Given the description of an element on the screen output the (x, y) to click on. 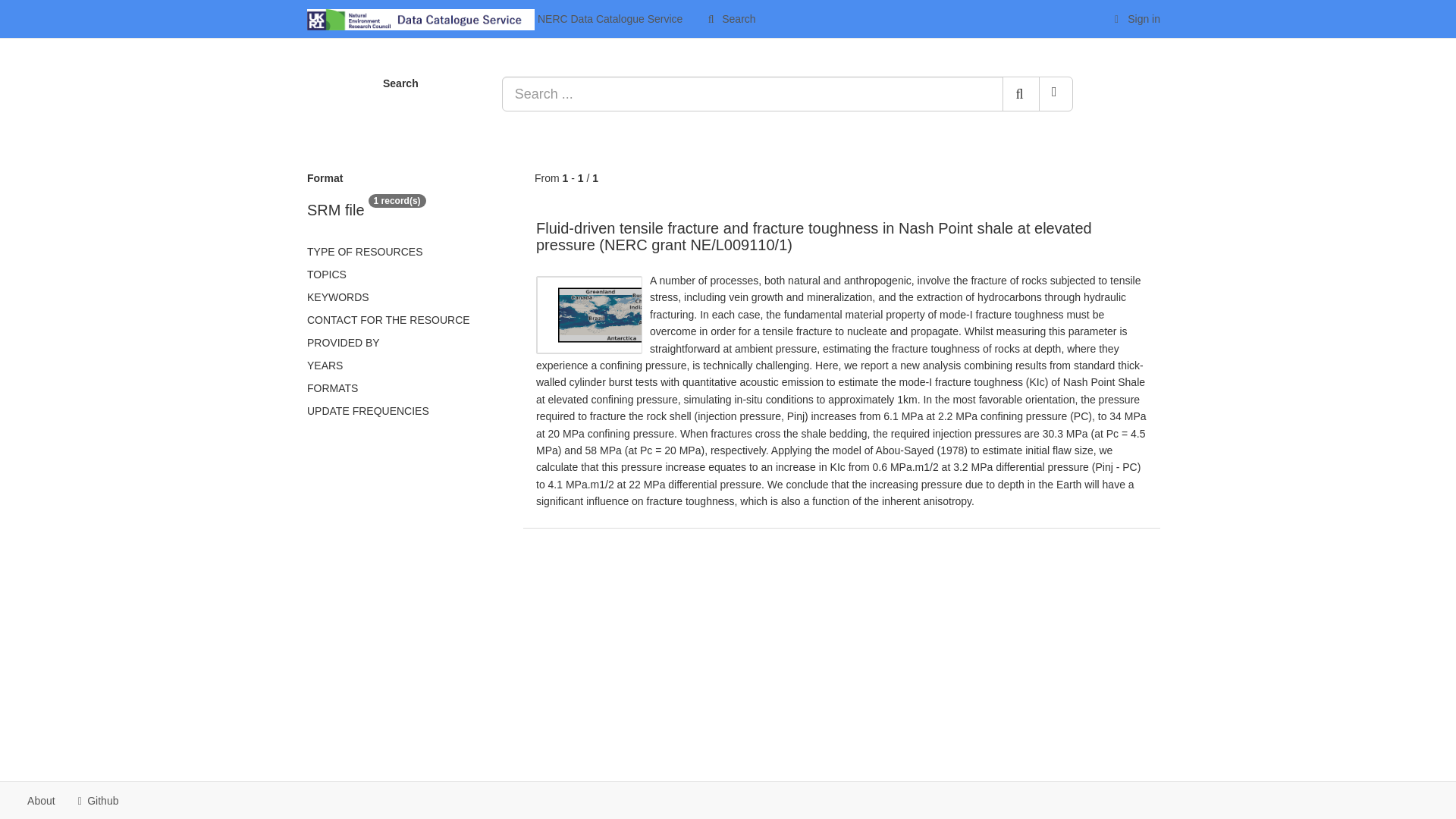
Search (730, 18)
  Search (730, 18)
Search (1021, 93)
NERC Data Catalogue Service (494, 18)
Reset (1056, 93)
Sign in (1135, 18)
  Sign in (1135, 18)
